Given the description of an element on the screen output the (x, y) to click on. 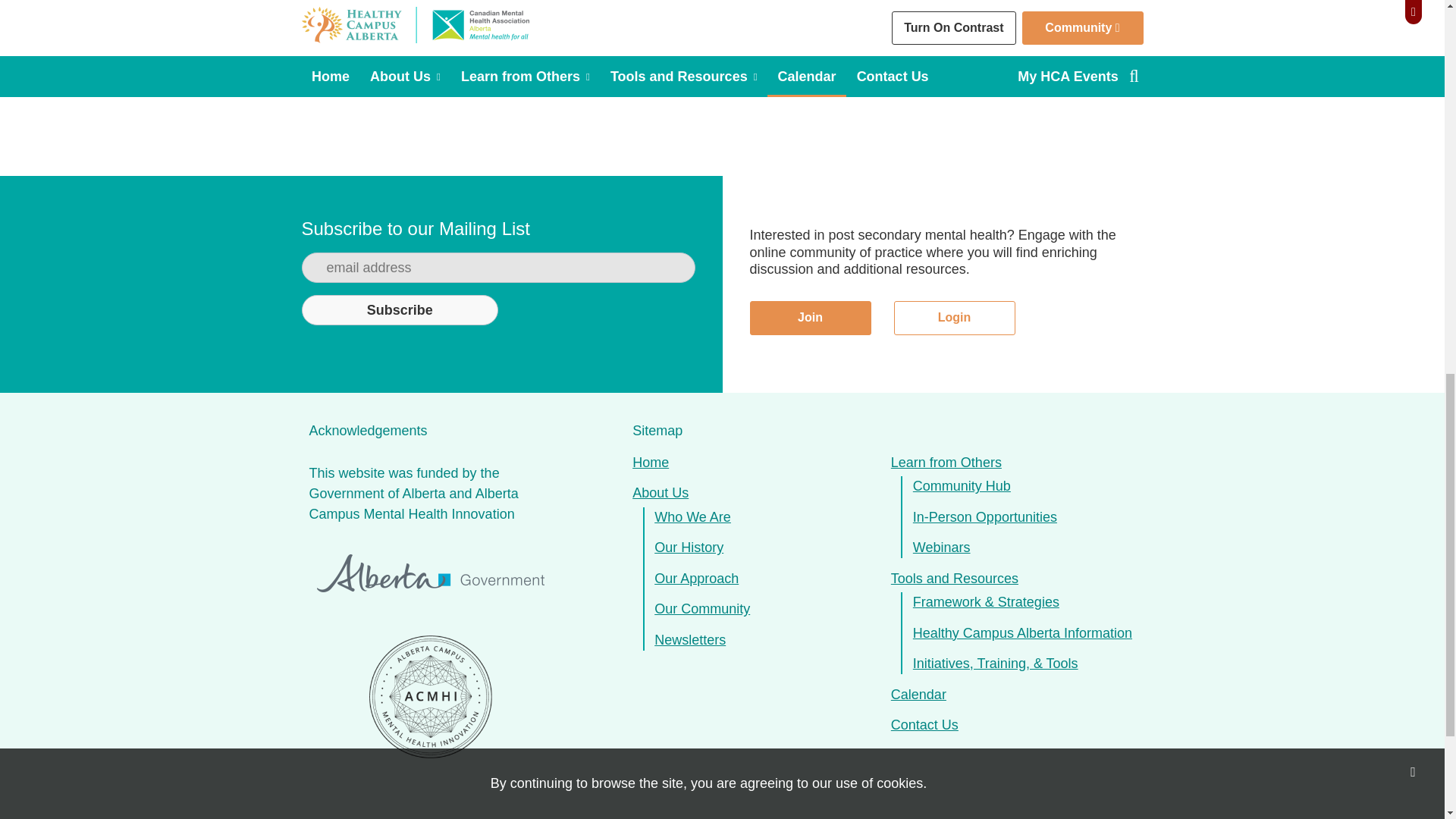
Subscribe (400, 309)
AB-Gov 2Color Sky RGB (430, 573)
Join (809, 317)
Subscribe (400, 309)
BLACK (430, 696)
Subscribe (498, 293)
